Given the description of an element on the screen output the (x, y) to click on. 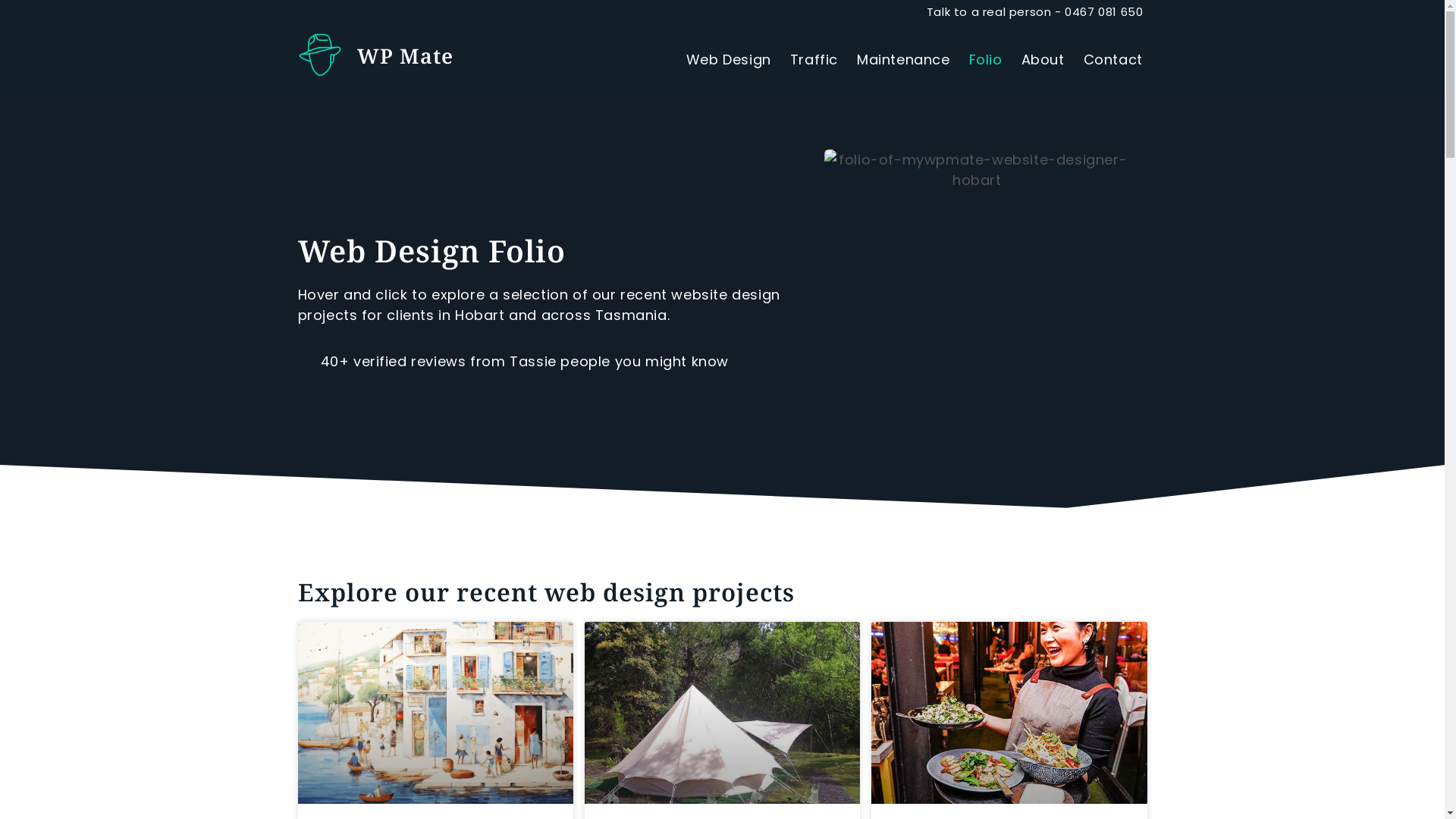
WordPress Mate Element type: text (482, 56)
Traffic Element type: text (813, 59)
Contact Element type: text (1112, 59)
Maintenance Element type: text (903, 59)
Web Design Element type: text (728, 59)
Talk to a real person - 0467 081 650 Element type: text (1023, 12)
Folio Element type: text (985, 59)
About Element type: text (1042, 59)
40+ verified reviews from Tassie people you might know Element type: text (547, 361)
